Given the description of an element on the screen output the (x, y) to click on. 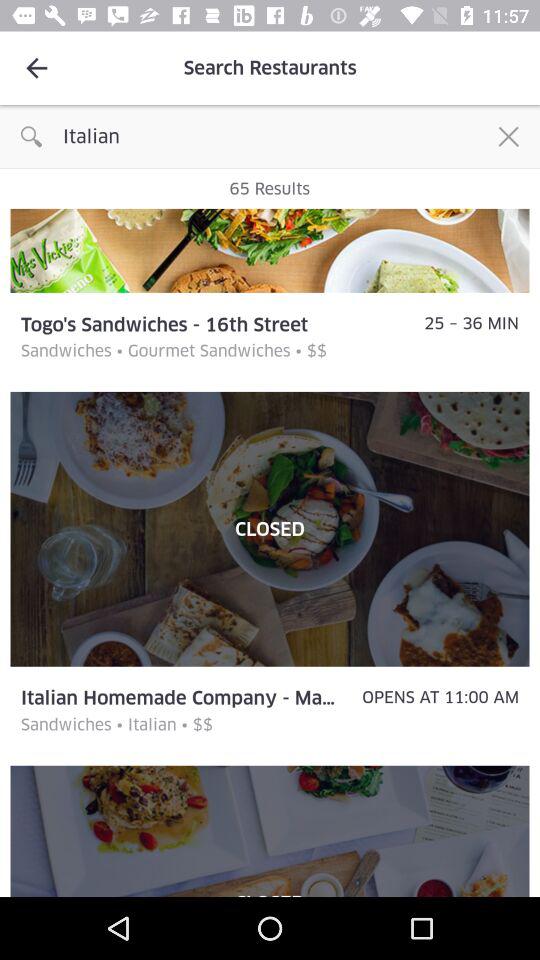
press icon to the right of italian icon (508, 136)
